Given the description of an element on the screen output the (x, y) to click on. 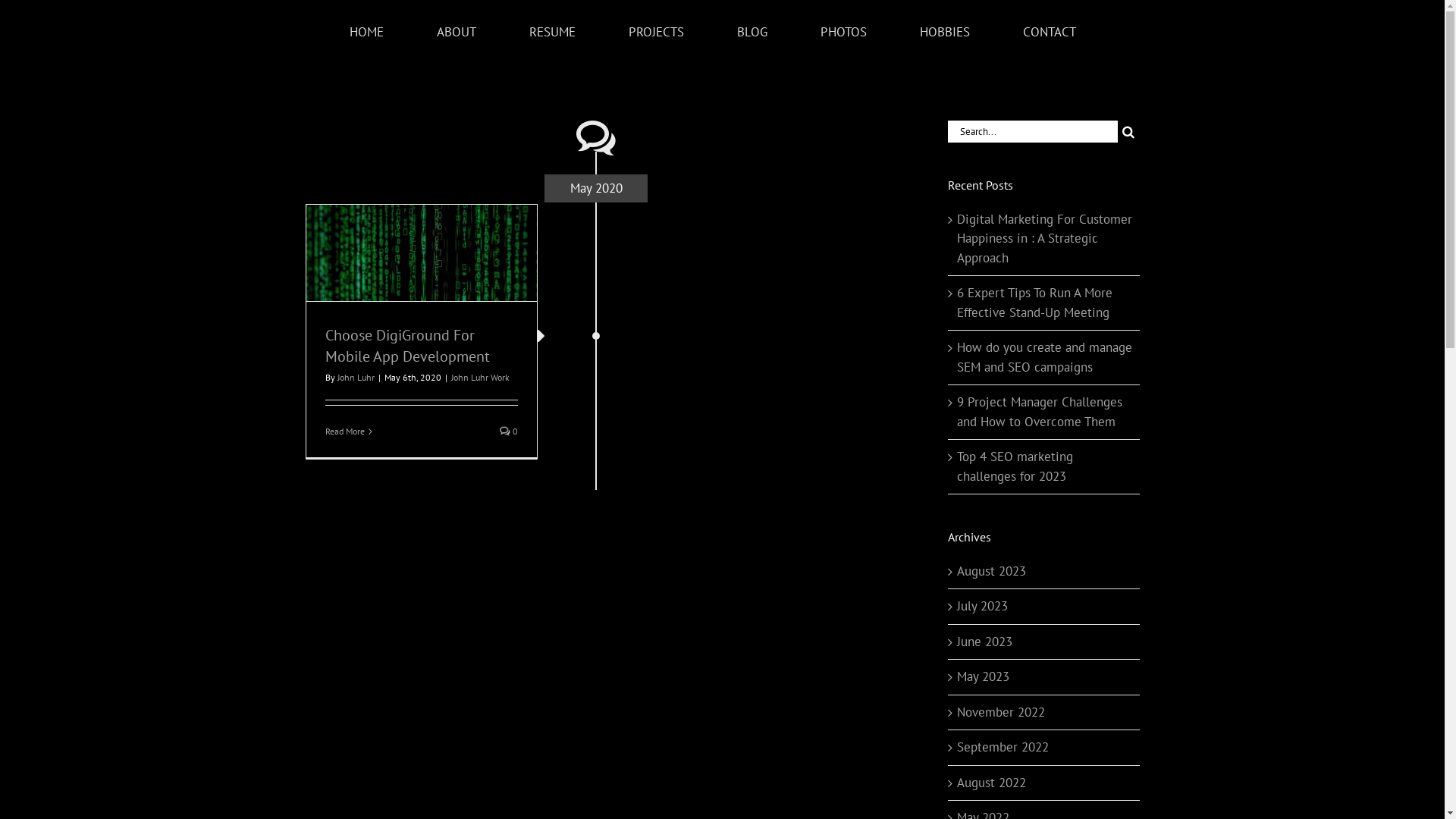
August 2023 Element type: text (991, 570)
May 2023 Element type: text (983, 676)
July 2023 Element type: text (982, 605)
HOBBIES Element type: text (944, 31)
PROJECTS Element type: text (655, 31)
June 2023 Element type: text (984, 641)
November 2022 Element type: text (1000, 711)
Top 4 SEO marketing challenges for 2023 Element type: text (1015, 466)
 0 Element type: text (508, 430)
August 2022 Element type: text (991, 782)
ABOUT Element type: text (456, 31)
September 2022 Element type: text (1002, 746)
Read More Element type: text (344, 430)
6 Expert Tips To Run A More Effective Stand-Up Meeting Element type: text (1034, 302)
PHOTOS Element type: text (843, 31)
9 Project Manager Challenges and How to Overcome Them Element type: text (1039, 411)
CONTACT Element type: text (1048, 31)
BLOG Element type: text (752, 31)
John Luhr Element type: text (354, 376)
HOME Element type: text (366, 31)
John Luhr Work Element type: text (479, 376)
Choose DigiGround For Mobile App Development Element type: text (406, 345)
How do you create and manage SEM and SEO campaigns Element type: text (1044, 356)
RESUME Element type: text (552, 31)
